Given the description of an element on the screen output the (x, y) to click on. 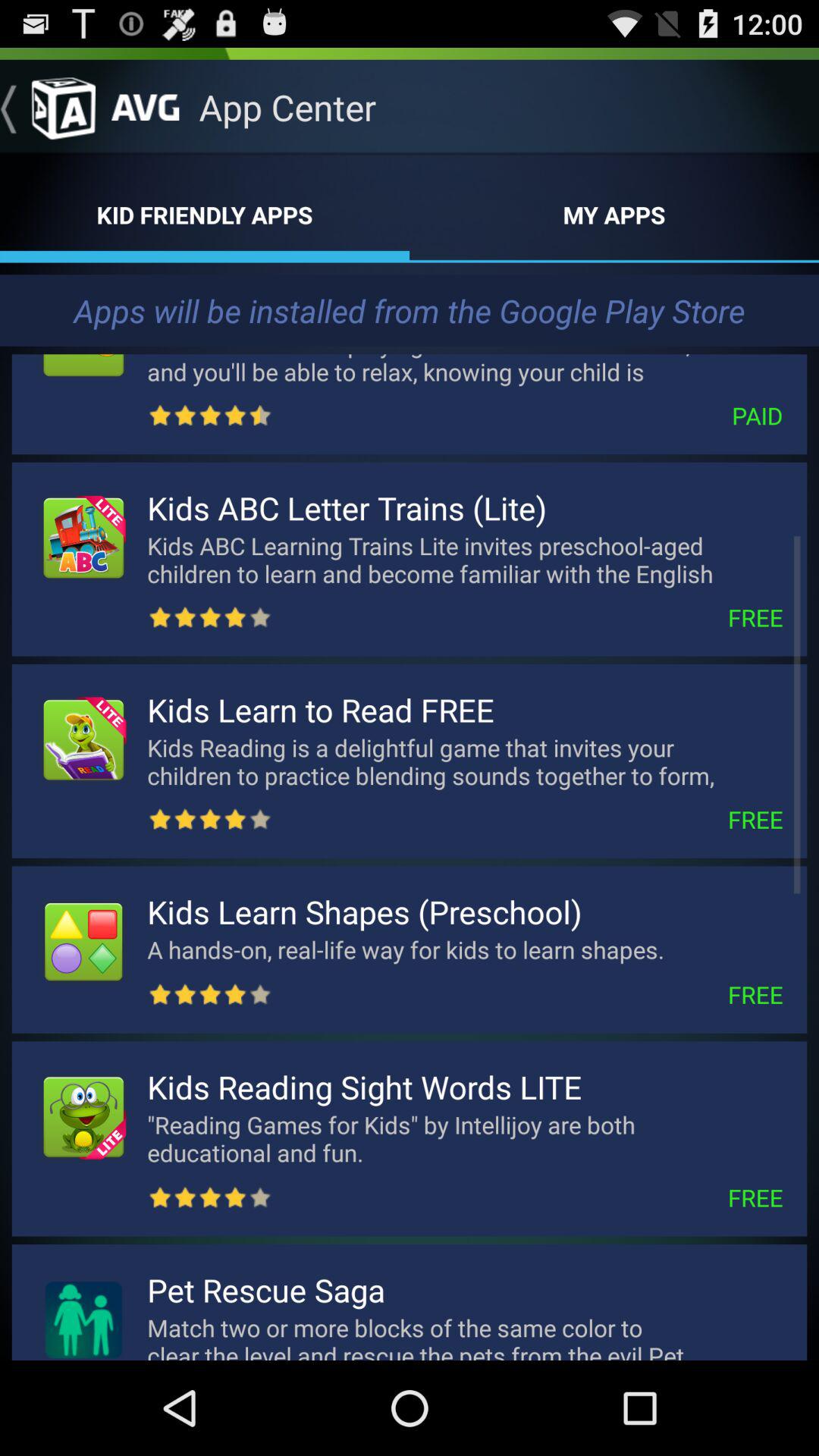
choose icon below pet rescue saga (465, 1335)
